Given the description of an element on the screen output the (x, y) to click on. 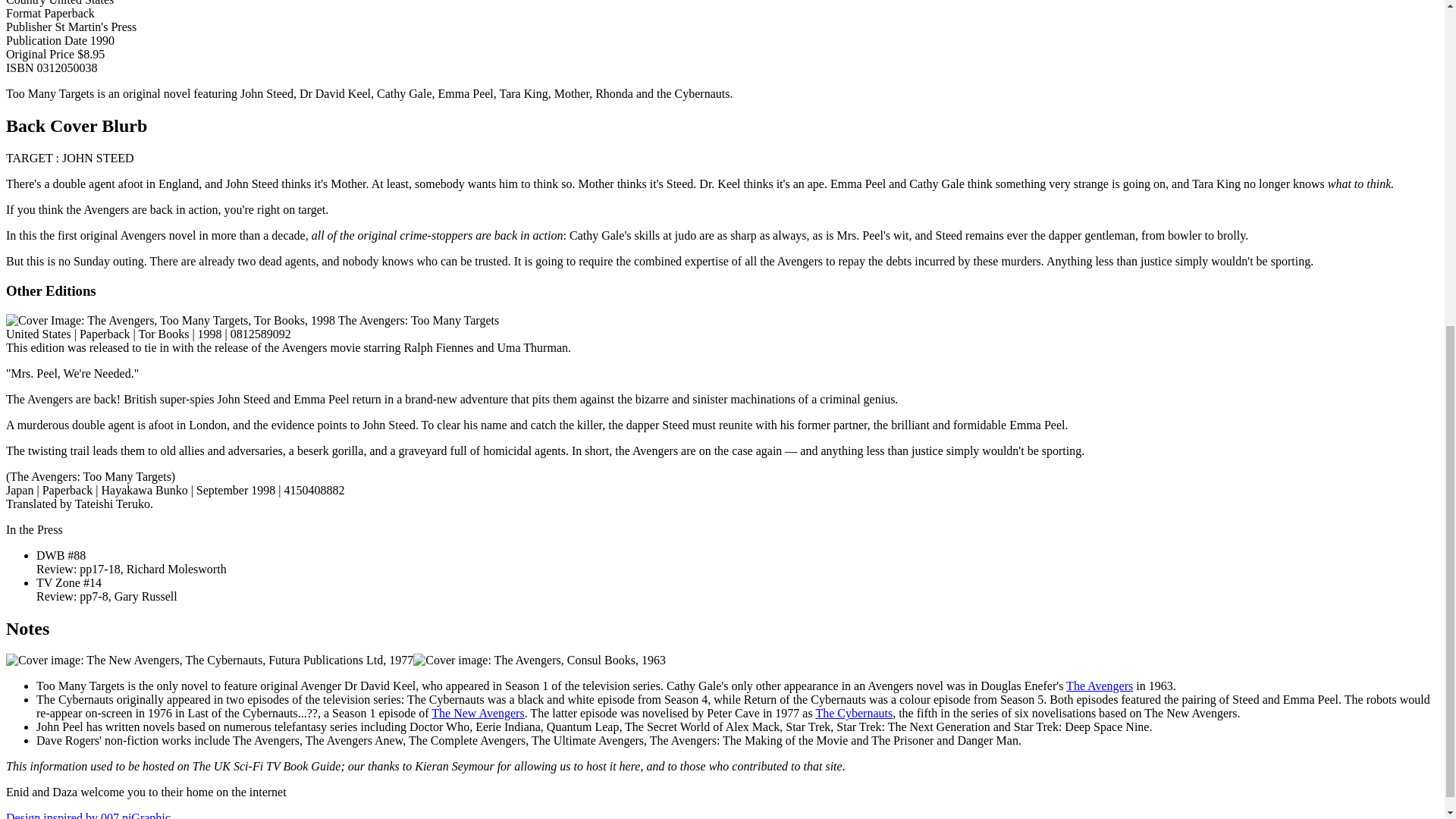
The New Avengers (477, 712)
The Avengers (1098, 685)
The Cybernauts (853, 712)
